Given the description of an element on the screen output the (x, y) to click on. 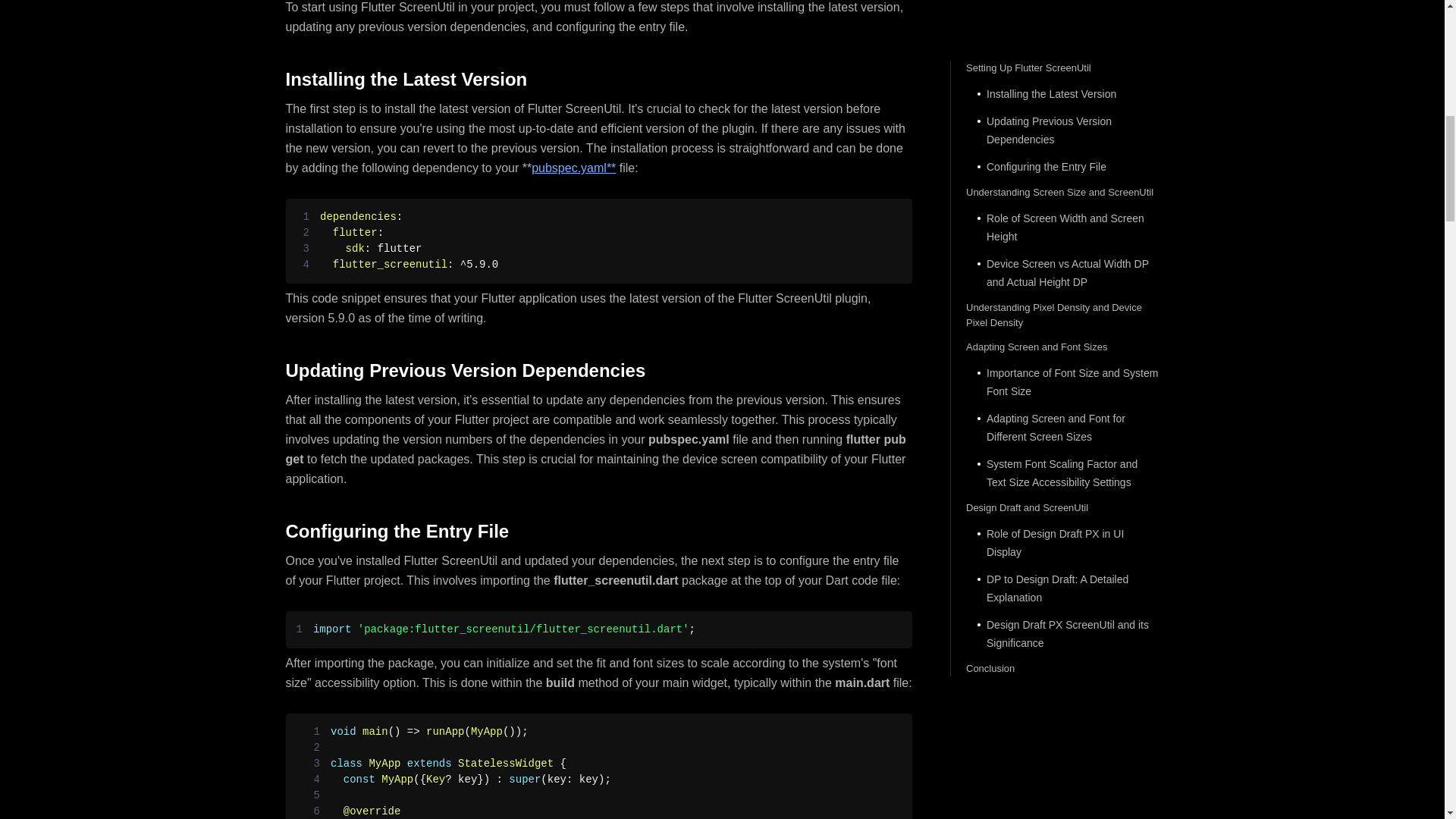
Device Screen vs Actual Width DP and Actual Height DP (1062, 30)
Importance of Font Size and System Font Size (1062, 139)
Design Draft PX ScreenUtil and its Significance (1062, 391)
Design Draft and ScreenUtil (1062, 264)
Conclusion (1062, 426)
Understanding Pixel Density and Device Pixel Density (1062, 72)
Adapting Screen and Font for Different Screen Sizes (1062, 185)
Role of Design Draft PX in UI Display (1062, 299)
DP to Design Draft: A Detailed Explanation (1062, 345)
Role of Screen Width and Screen Height (1062, 1)
Adapting Screen and Font Sizes (1062, 104)
